Given the description of an element on the screen output the (x, y) to click on. 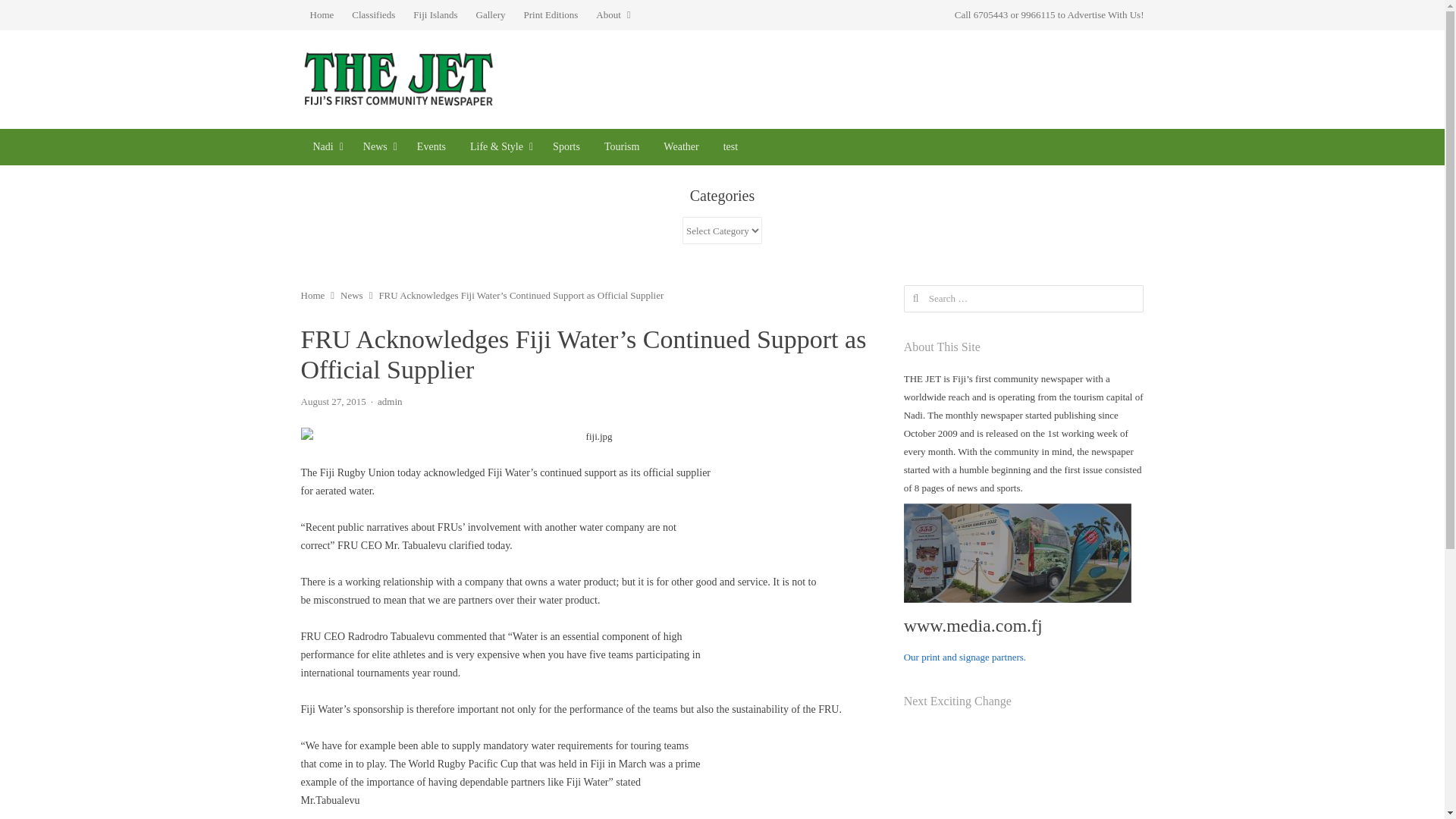
Classifieds (373, 14)
Gallery (491, 14)
About (612, 14)
Print Editions (549, 14)
Home (320, 14)
NADI CDN (324, 146)
Fiji Islands (434, 14)
